Given the description of an element on the screen output the (x, y) to click on. 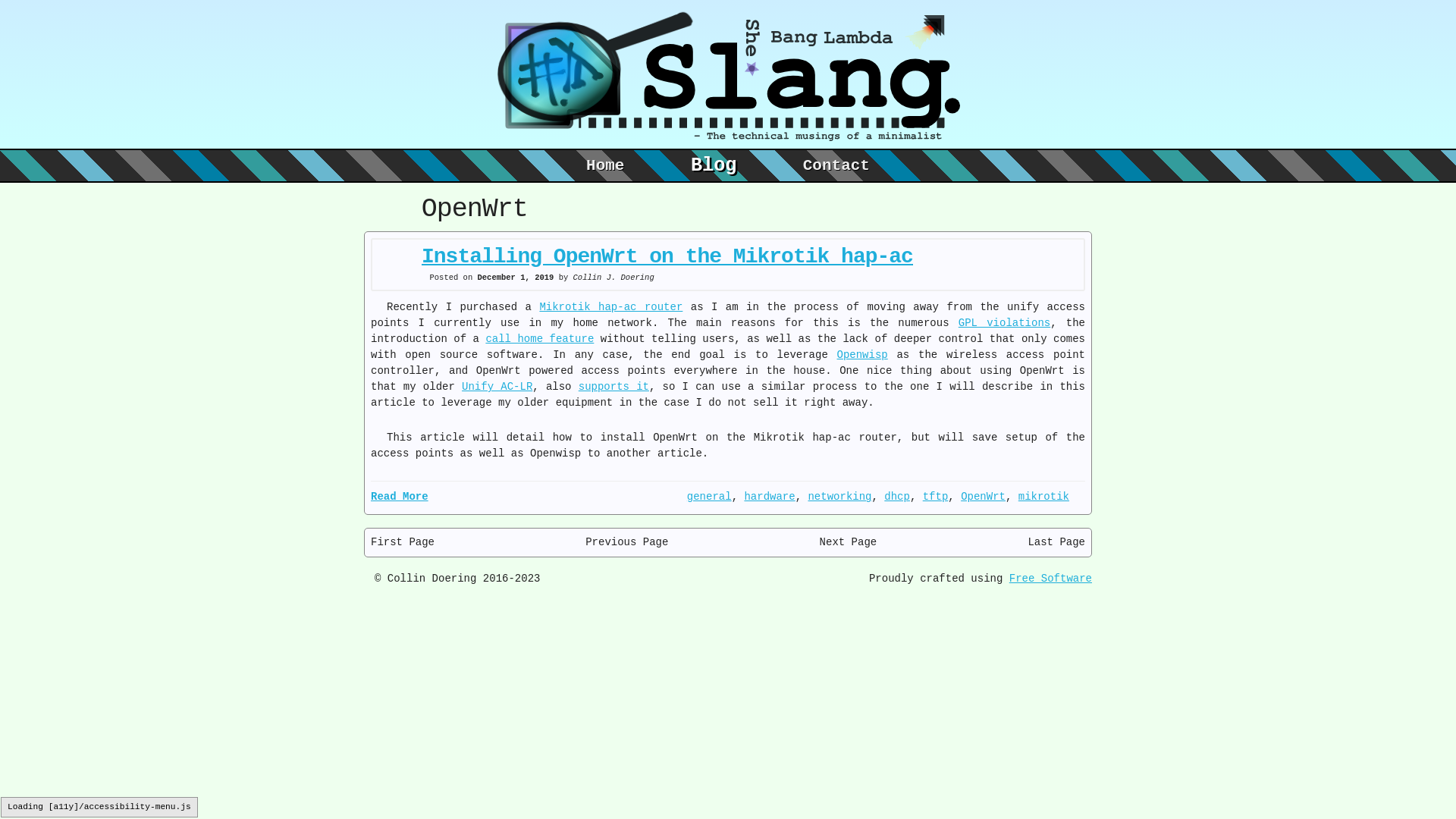
Blog (709, 163)
general (709, 496)
All pages tagged 'hardware'. (769, 496)
All pages tagged 'tftp'. (936, 496)
Free Software (1050, 578)
All pages tagged 'general'. (709, 496)
tftp (936, 496)
Mikrotik hap-ac router (610, 306)
Installing OpenWrt on the Mikrotik hap-ac (667, 256)
All pages tagged 'networking'. (839, 496)
